Given the description of an element on the screen output the (x, y) to click on. 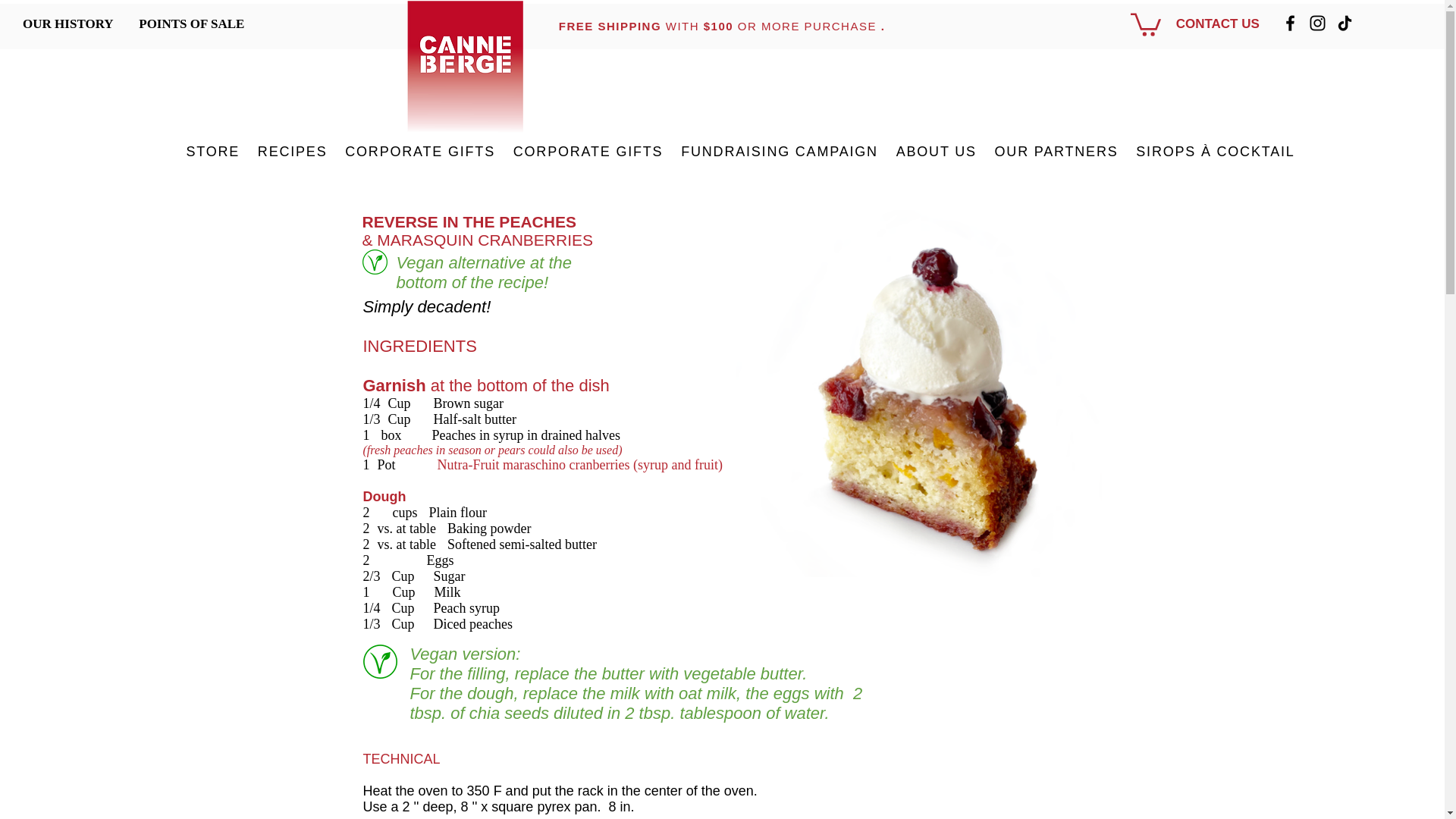
CORPORATE GIFTS (587, 152)
FUNDRAISING CAMPAIGN (778, 152)
Cranberry cranberry (463, 72)
STORE (212, 152)
CORPORATE GIFTS (419, 152)
CONTACT US (1217, 24)
ABOUT US (935, 152)
OUR HISTORY (67, 24)
POINTS OF SALE (191, 24)
RECIPES (292, 152)
